Given the description of an element on the screen output the (x, y) to click on. 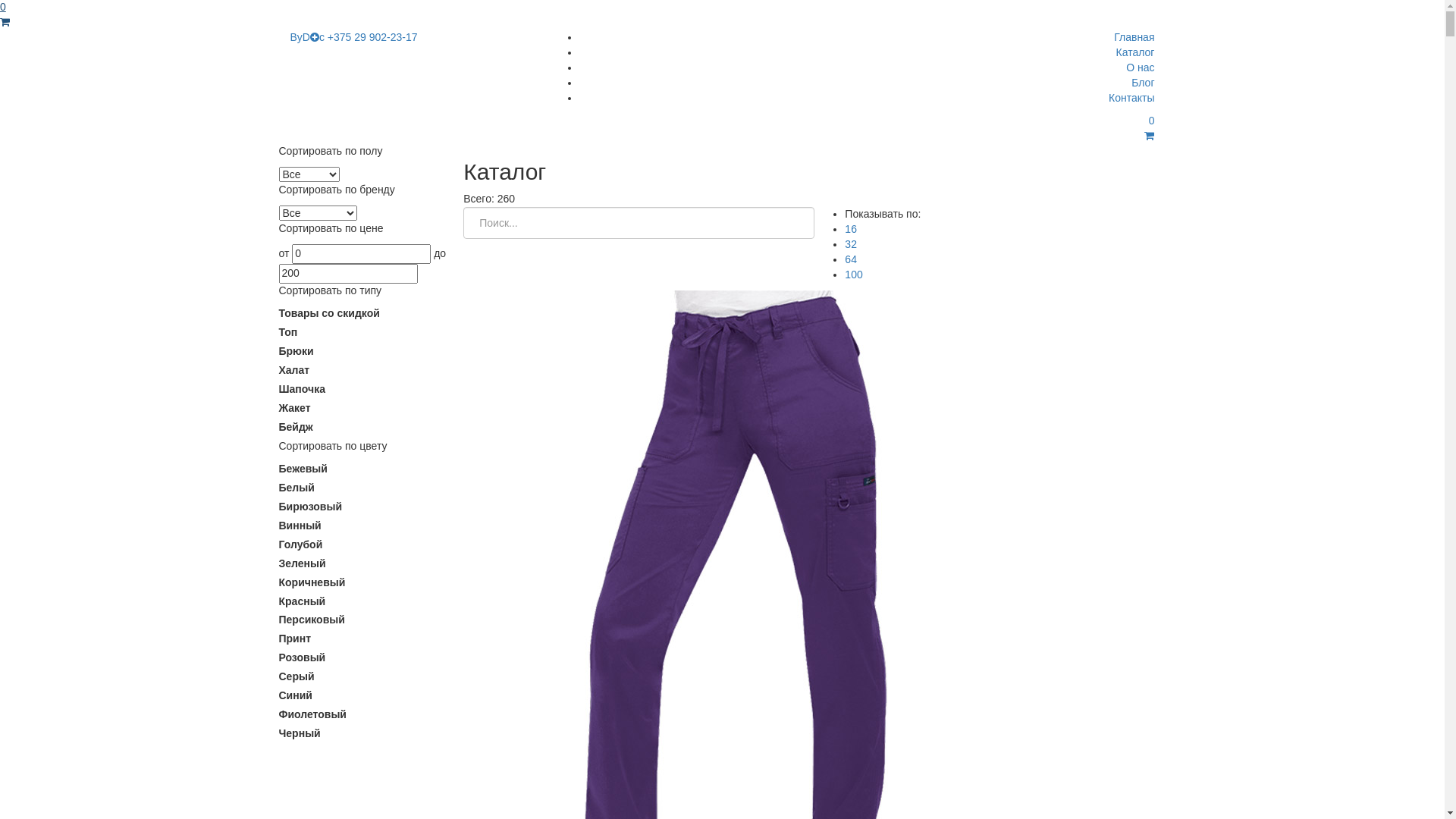
100 Element type: text (853, 274)
0 Element type: text (851, 128)
0 Element type: text (722, 15)
32 Element type: text (850, 244)
+375 29 902-23-17 Element type: text (372, 37)
64 Element type: text (850, 259)
16 Element type: text (850, 228)
ByDc Element type: text (306, 37)
